Given the description of an element on the screen output the (x, y) to click on. 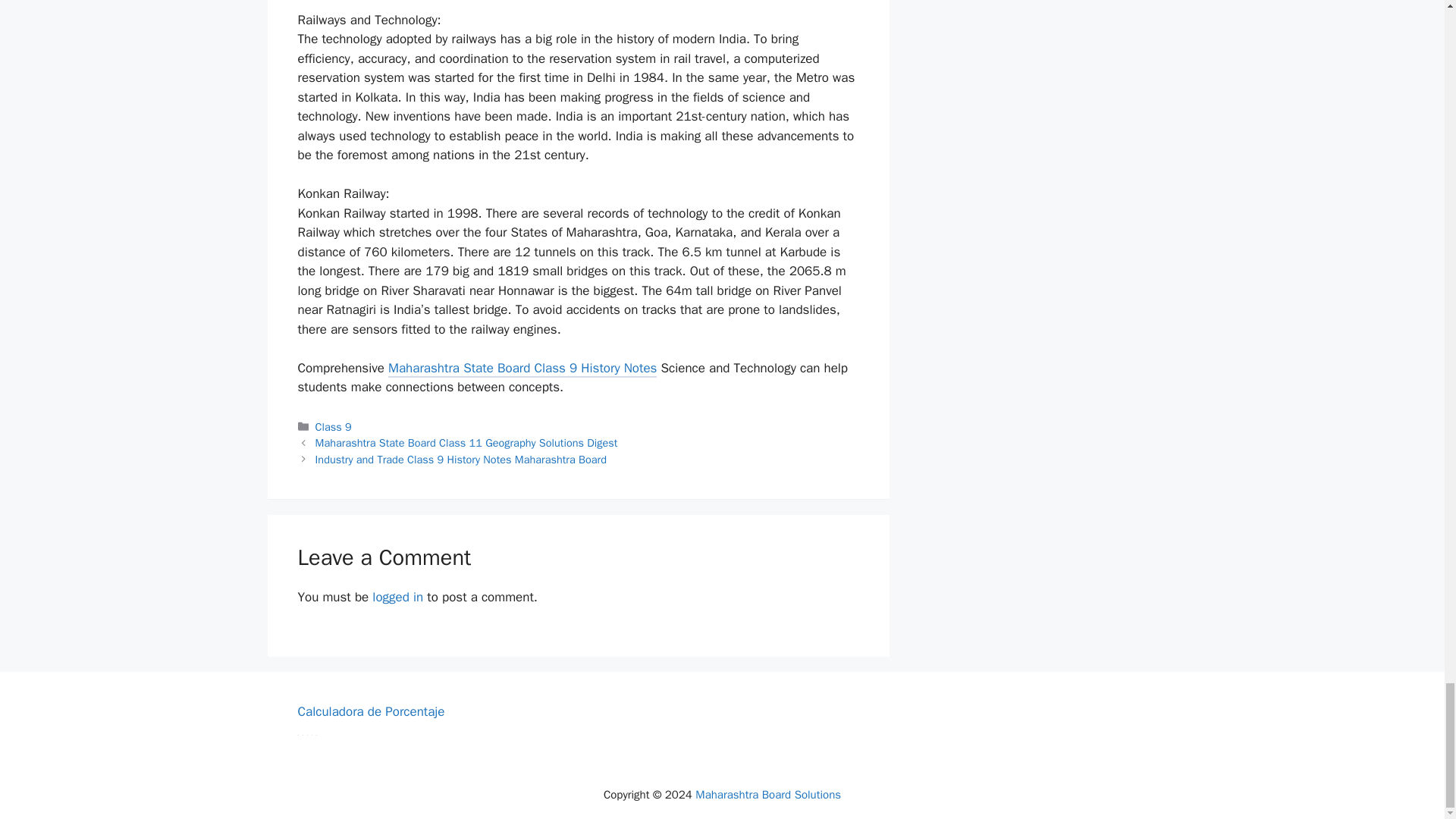
Maharashtra State Board Class 9 History Notes (522, 369)
Calculadora de Porcentaje (370, 711)
Industry and Trade Class 9 History Notes Maharashtra Board (461, 459)
Class 9 (333, 427)
logged in (397, 596)
Maharashtra State Board Class 11 Geography Solutions Digest (466, 442)
Maharashtra Board Solutions (768, 794)
